Given the description of an element on the screen output the (x, y) to click on. 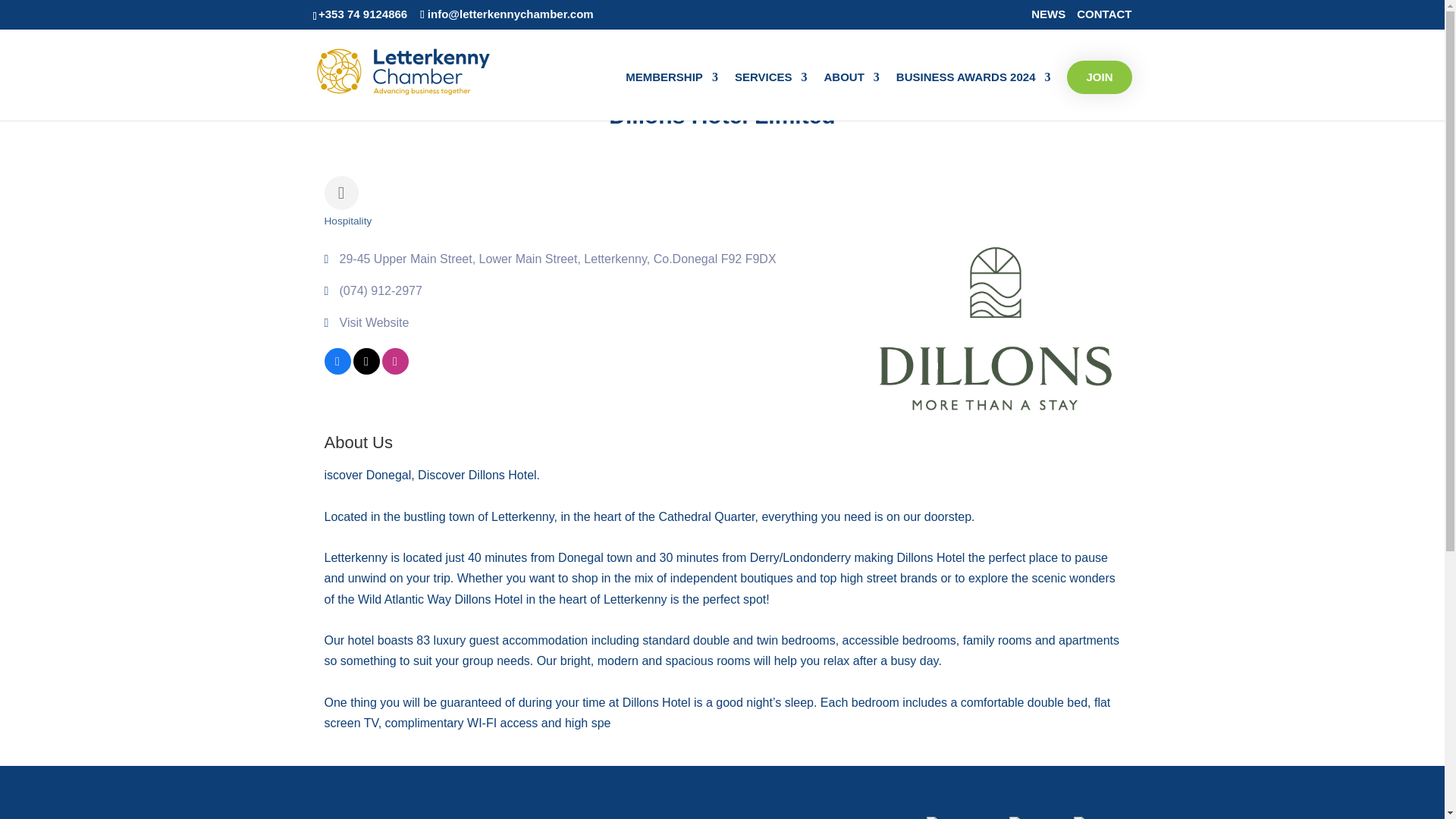
View on Facebook (337, 369)
View on Instagram  (395, 369)
View on Twitter (366, 369)
JOIN (1099, 77)
ABOUT (851, 96)
MEMBERSHIP (671, 96)
CONTACT (1104, 17)
BUSINESS AWARDS 2024 (973, 96)
NEWS (1047, 17)
SERVICES (771, 96)
